Given the description of an element on the screen output the (x, y) to click on. 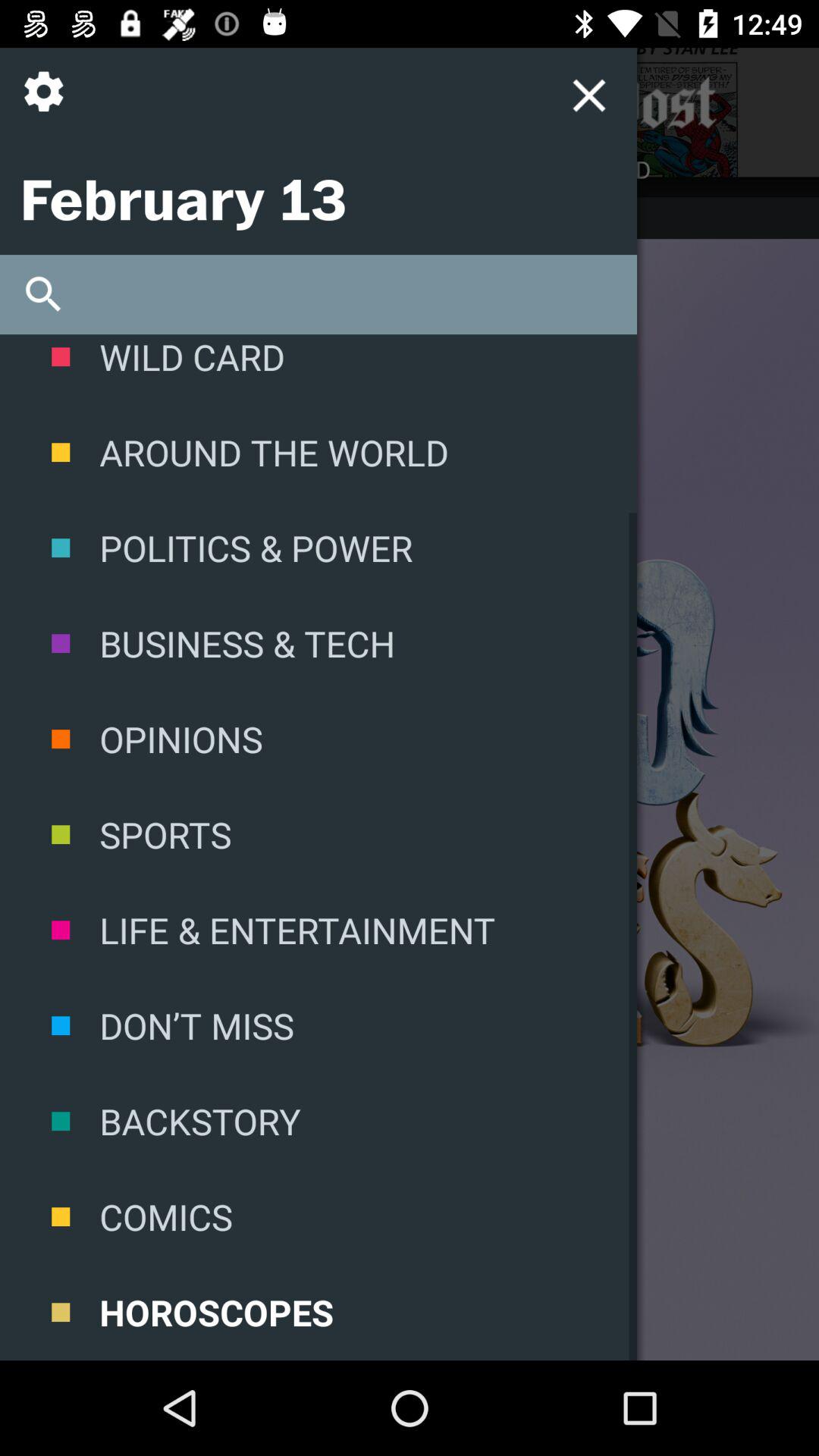
close menu (589, 95)
